Given the description of an element on the screen output the (x, y) to click on. 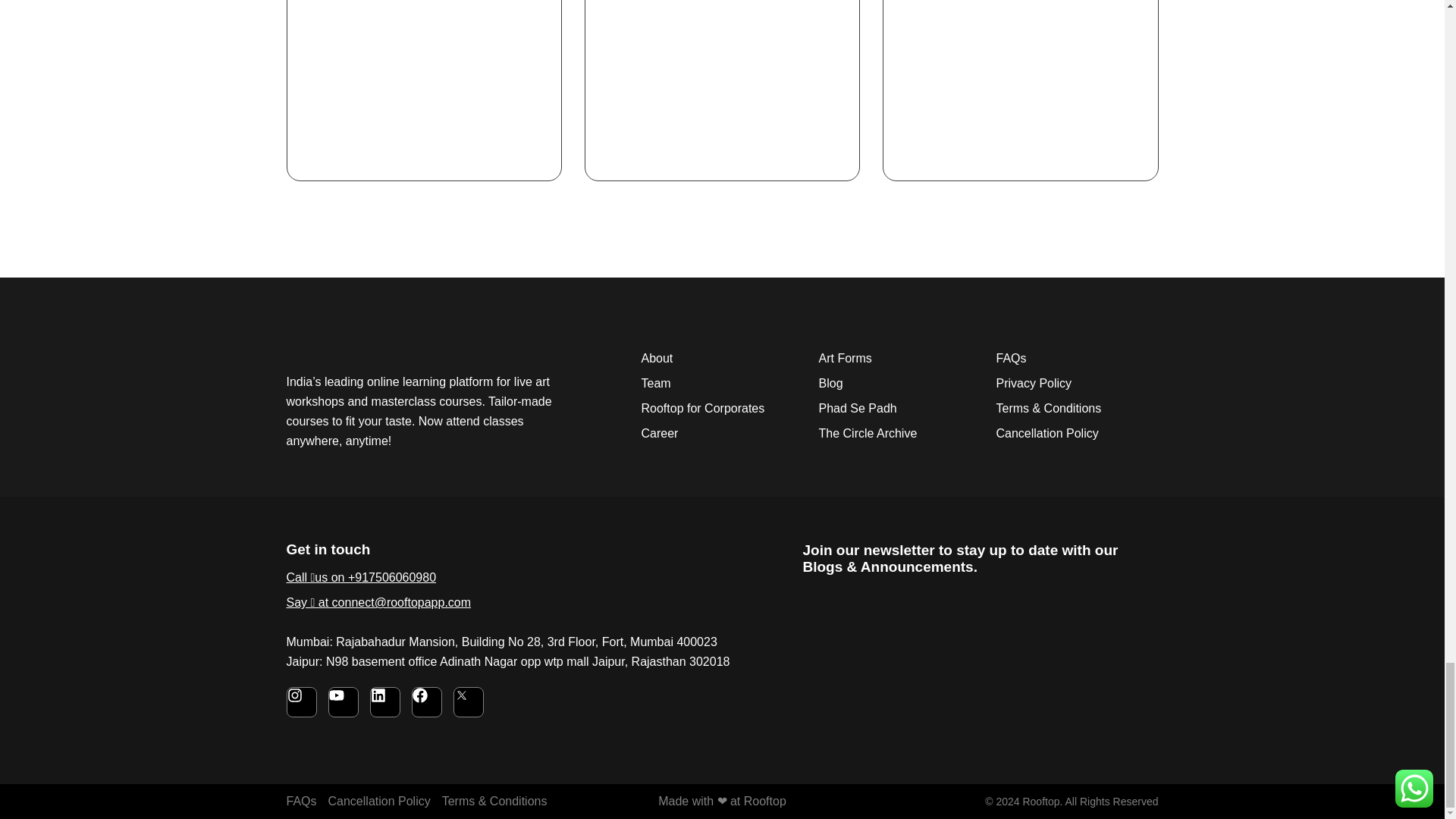
The Tagore Family: A Dynasty of Indian Artistic Innovation (716, 23)
About (722, 358)
Team (722, 383)
Read More (931, 157)
Read More (633, 123)
rooftop logo (394, 347)
Read More (334, 123)
Rooftop for Corporates (722, 408)
Art Forms (899, 358)
Career (722, 433)
